Given the description of an element on the screen output the (x, y) to click on. 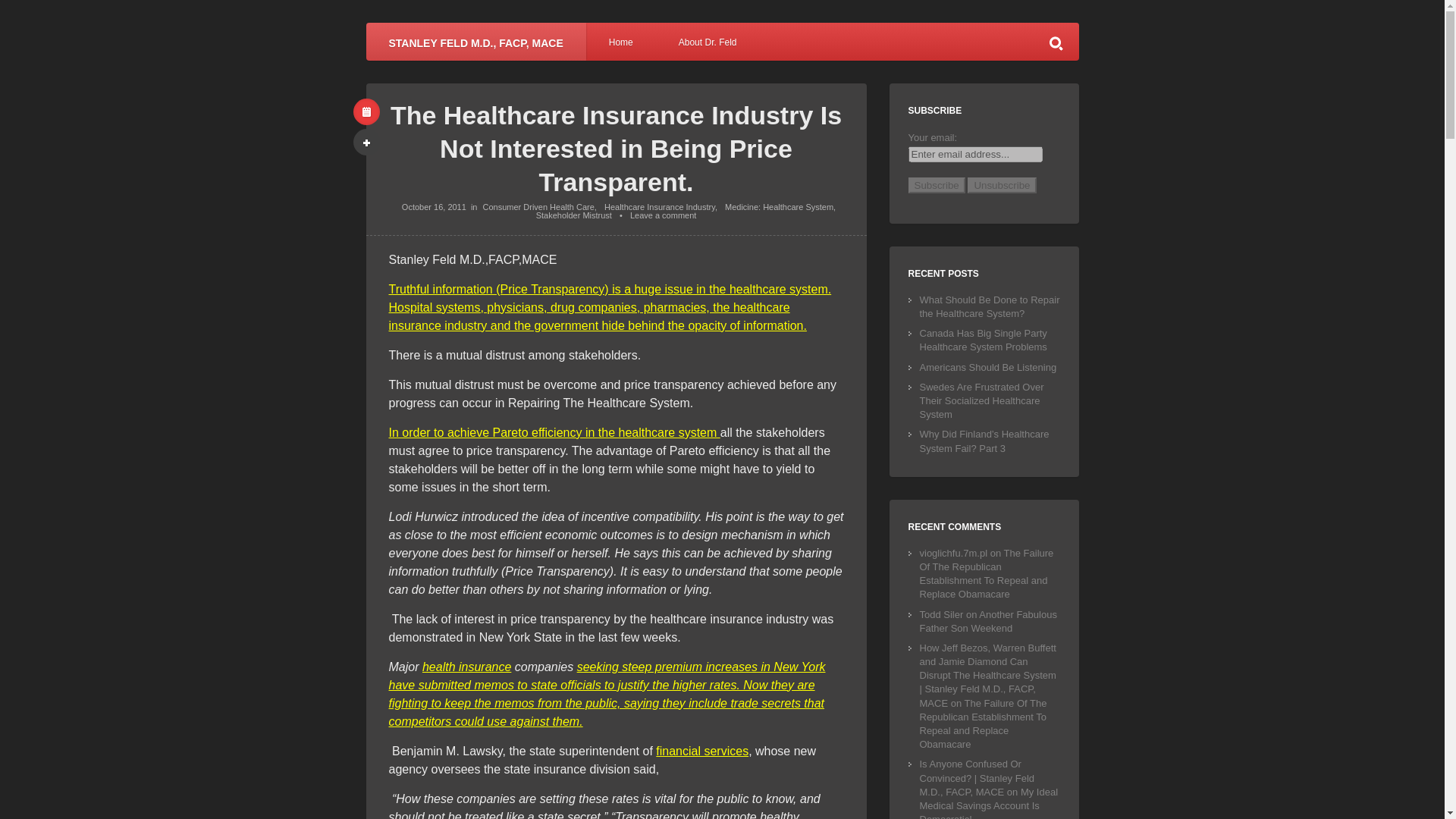
health insurance (466, 666)
Subscribe (936, 185)
Subscribe (936, 185)
Healthcare Insurance Industry (659, 206)
Consumer Driven Health Care (537, 206)
Medicine: Healthcare System (778, 206)
About Dr. Feld (708, 41)
Leave a comment (662, 215)
The new department. (702, 750)
financial services (702, 750)
STANLEY FELD M.D., FACP, MACE (475, 41)
Enter email address... (975, 154)
Home (621, 41)
